Given the description of an element on the screen output the (x, y) to click on. 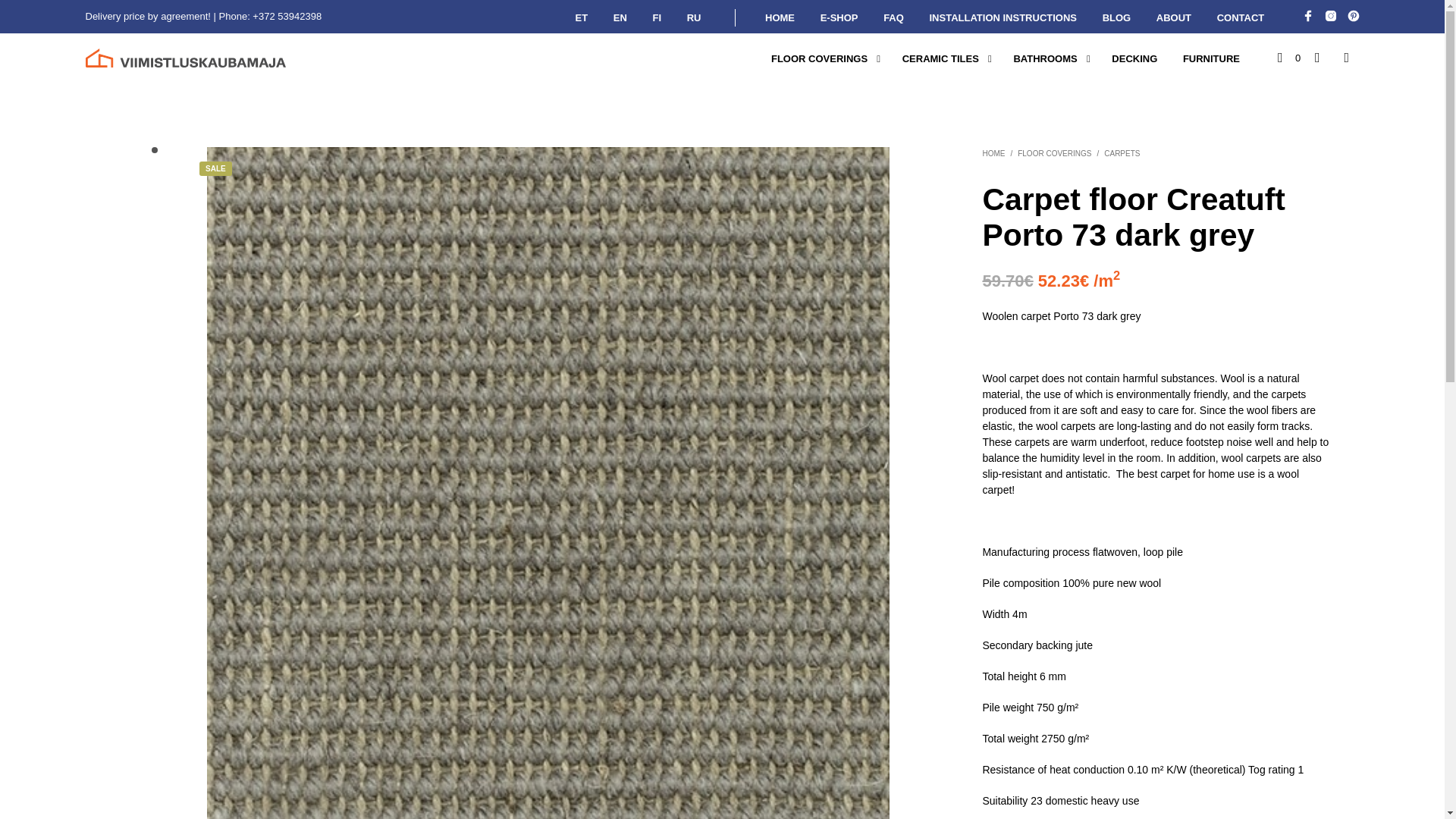
E-SHOP (839, 17)
FAQ (893, 17)
BLOG (1116, 17)
FLOOR COVERINGS (819, 58)
FI (656, 17)
HOME (780, 17)
INSTALLATION INSTRUCTIONS (1002, 17)
BATHROOMS (1044, 58)
ABOUT (1173, 17)
Viimistluskaubamaja en (1307, 15)
ET (581, 17)
CERAMIC TILES (940, 58)
RU (694, 17)
CONTACT (1240, 17)
EN (620, 17)
